Given the description of an element on the screen output the (x, y) to click on. 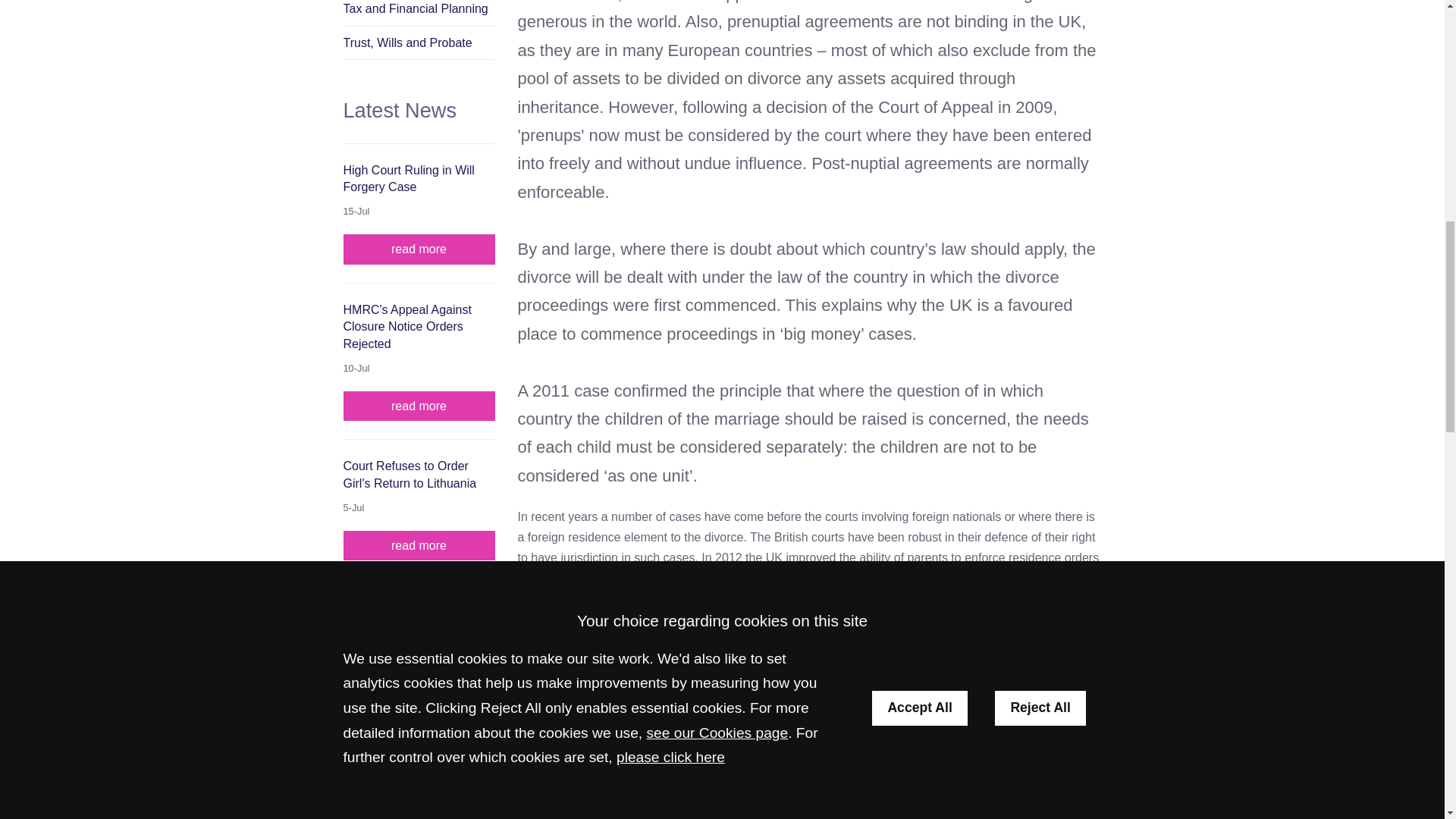
Tax and Financial Planning (418, 12)
1996 Hague Convention (1012, 578)
family law services (685, 738)
Trust, Wills and Probate (418, 41)
